Given the description of an element on the screen output the (x, y) to click on. 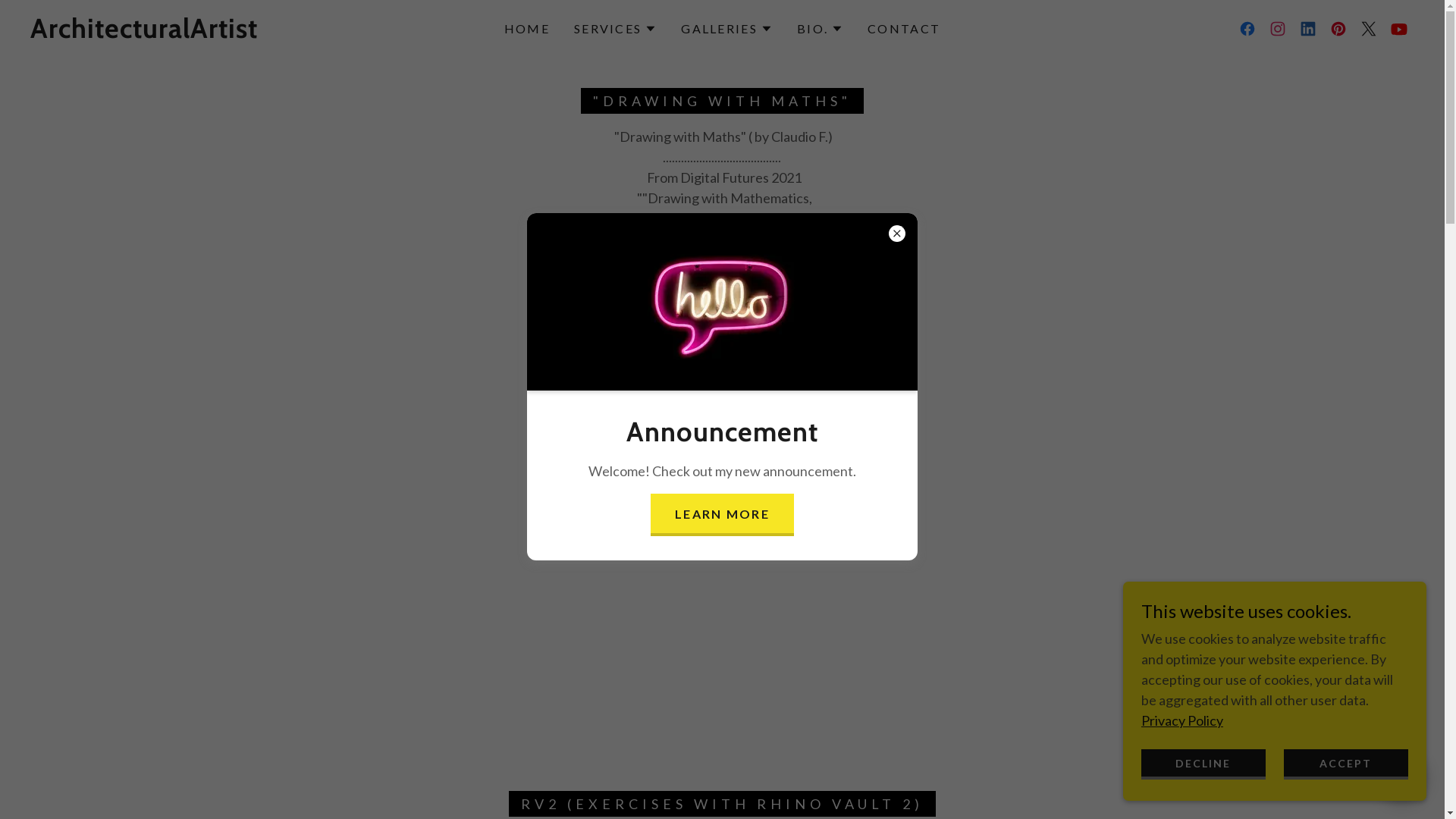
Privacy Policy Element type: text (1182, 720)
CONTACT Element type: text (903, 28)
ArchitecturalArtist Element type: text (143, 32)
SERVICES Element type: text (615, 28)
LEARN MORE Element type: text (721, 514)
BIO. Element type: text (820, 28)
HOME Element type: text (526, 28)
GALLERIES Element type: text (726, 28)
DECLINE Element type: text (1203, 764)
ACCEPT Element type: text (1345, 764)
